Given the description of an element on the screen output the (x, y) to click on. 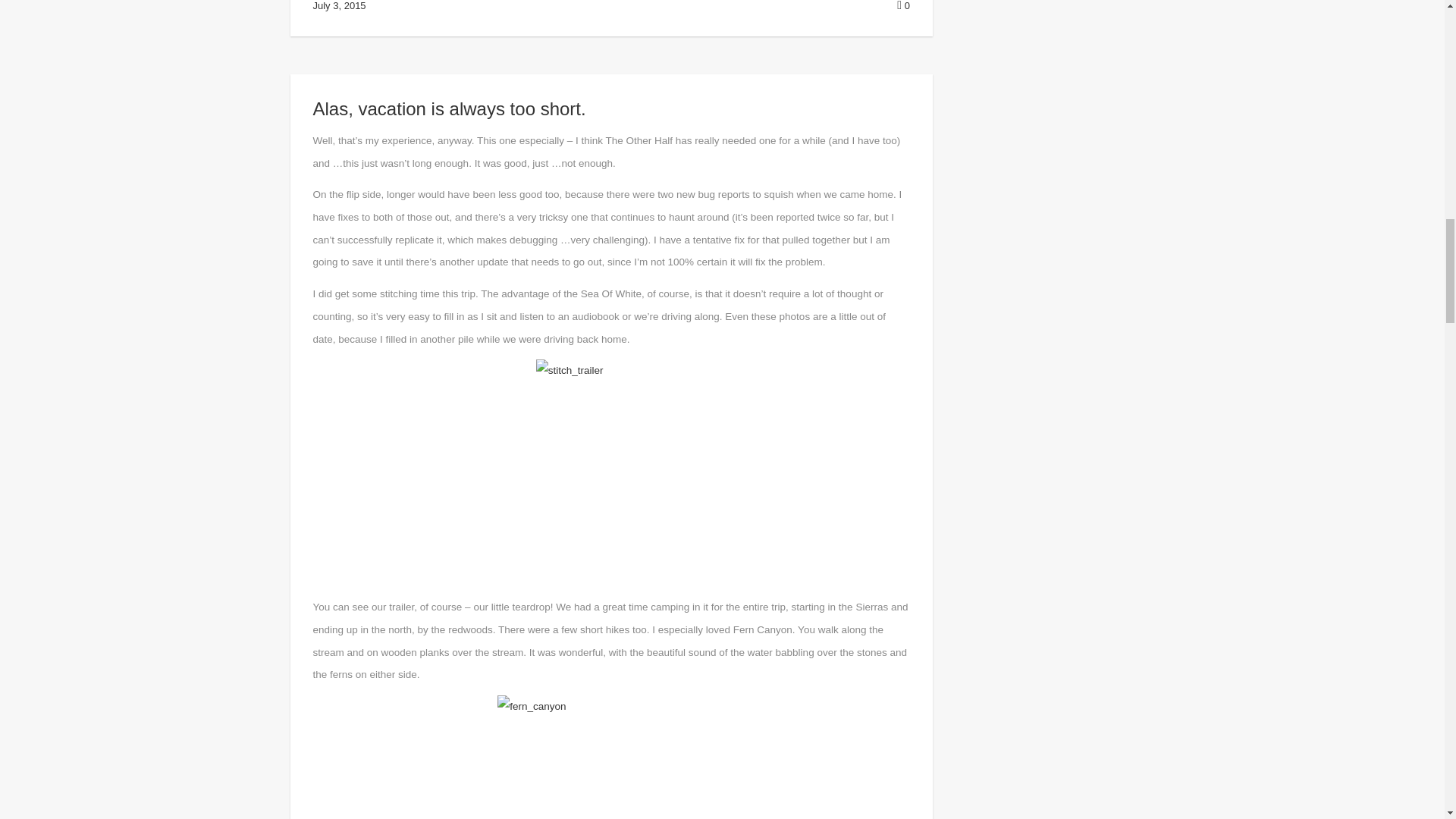
0 (903, 5)
Alas, vacation is always too short. (449, 108)
July 3, 2015 (339, 5)
